Given the description of an element on the screen output the (x, y) to click on. 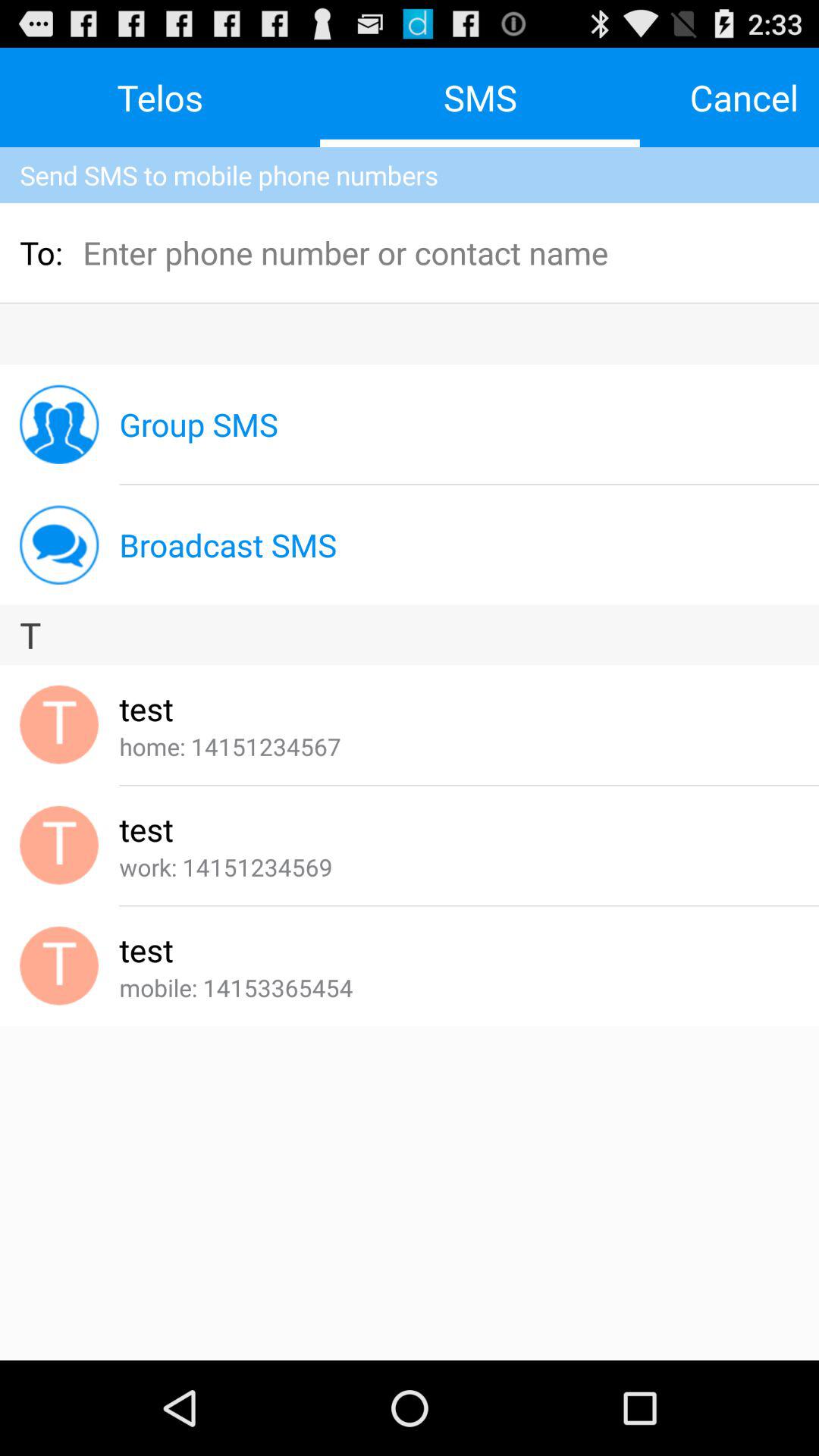
flip until t icon (409, 634)
